Given the description of an element on the screen output the (x, y) to click on. 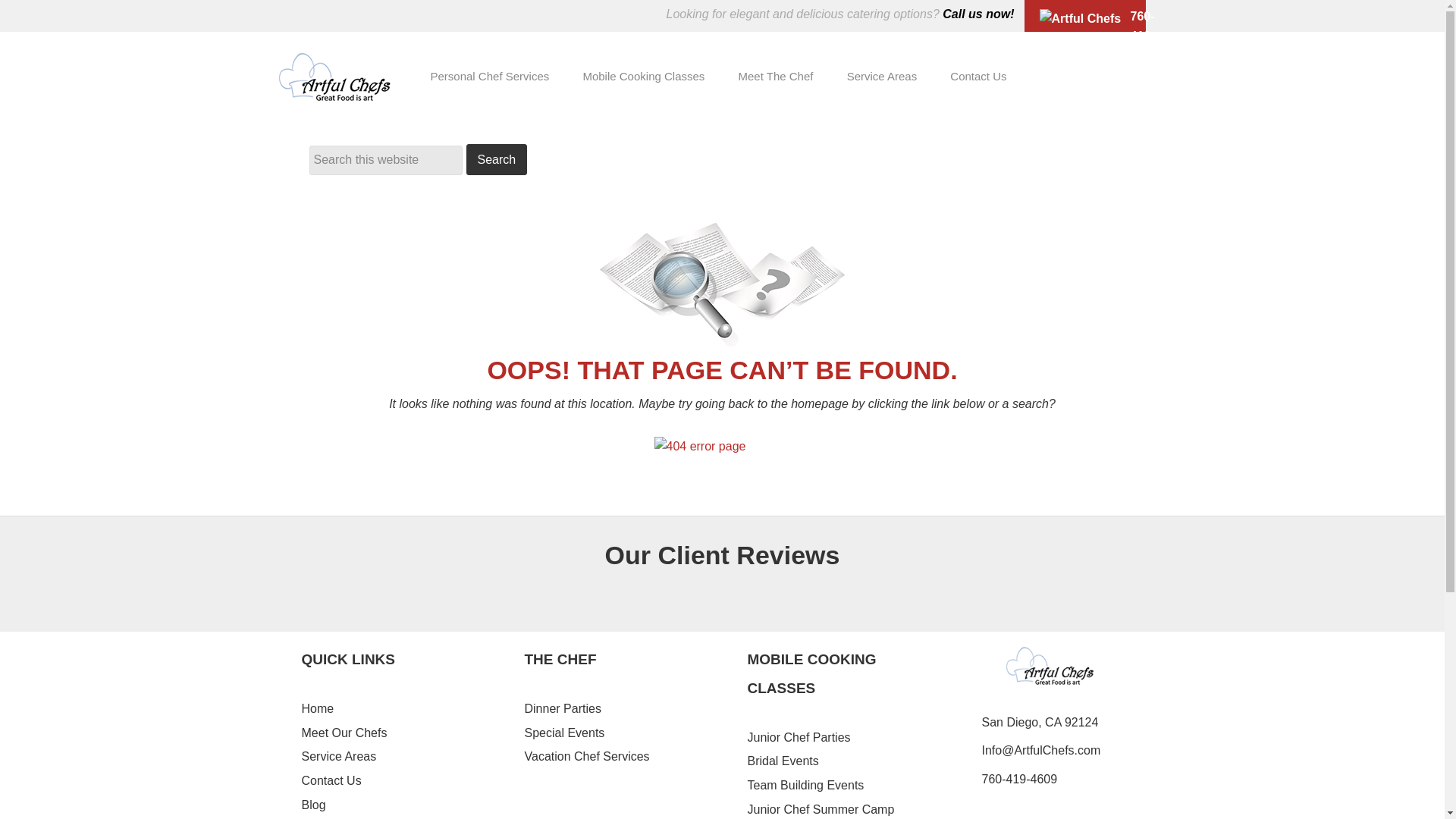
Meet Our Chefs (344, 732)
Service Areas (882, 76)
Search (496, 159)
Personal Chef Services (489, 76)
San Diego Personal Chef, Catering, Cooking Classes (339, 82)
Mobile Cooking Classes (643, 76)
Artful Chefs Phone Number (1082, 28)
Search (496, 159)
artful chefs 404 page (721, 260)
Artful Chefs Yelp (1131, 74)
Artful Chefs Facebook (1045, 74)
Artful Chefs Linkedin (1072, 74)
Artful Chefs Flickr (1164, 74)
artful chefs 404 page (721, 453)
Home (317, 707)
